Given the description of an element on the screen output the (x, y) to click on. 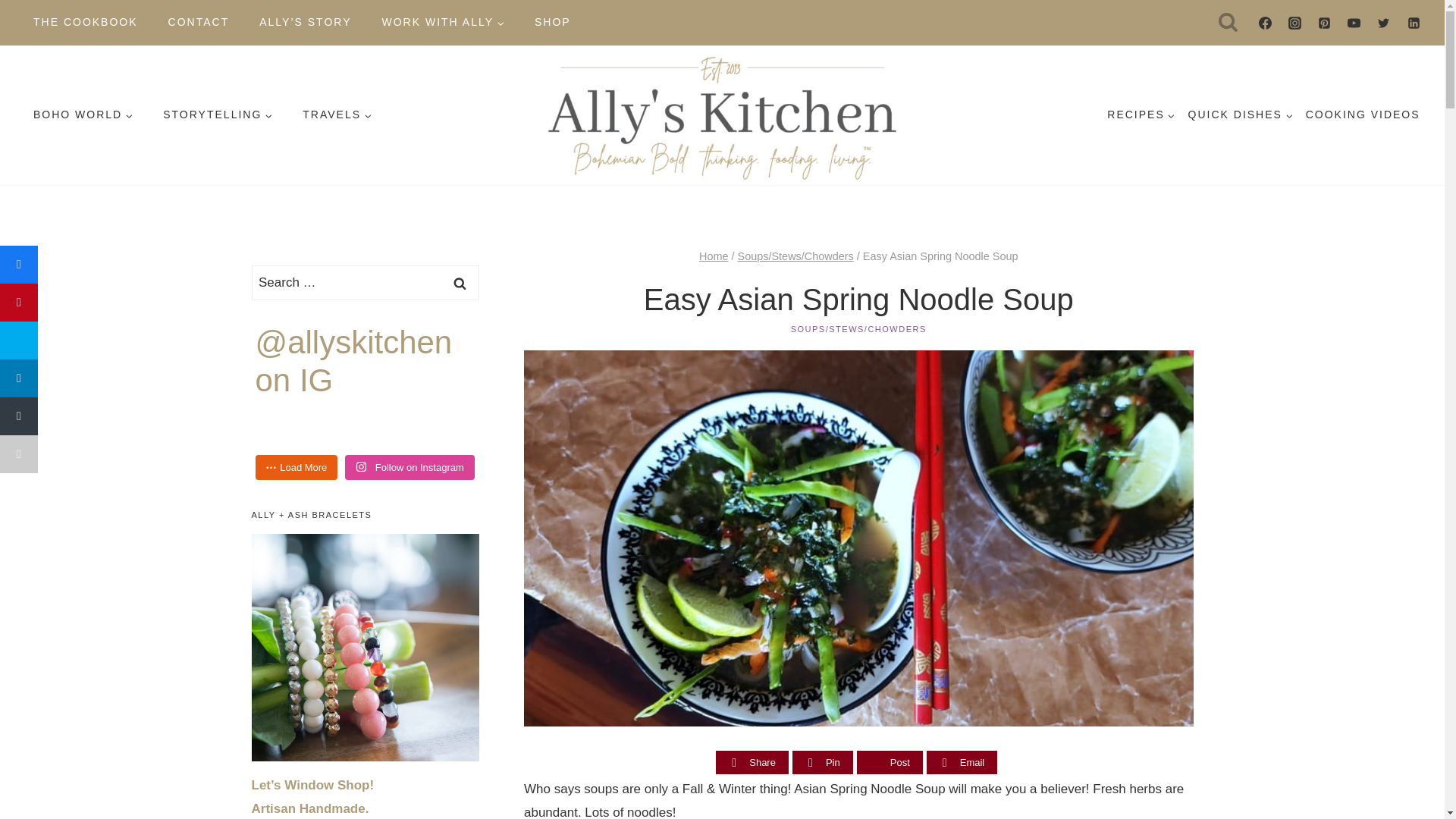
CONTACT (198, 22)
WORK WITH ALLY (442, 22)
Search (460, 282)
SHOP (552, 22)
Search (460, 282)
RECIPES (1140, 115)
THE COOKBOOK (84, 22)
BOHO WORLD (82, 115)
TRAVELS (336, 115)
STORYTELLING (217, 115)
